Given the description of an element on the screen output the (x, y) to click on. 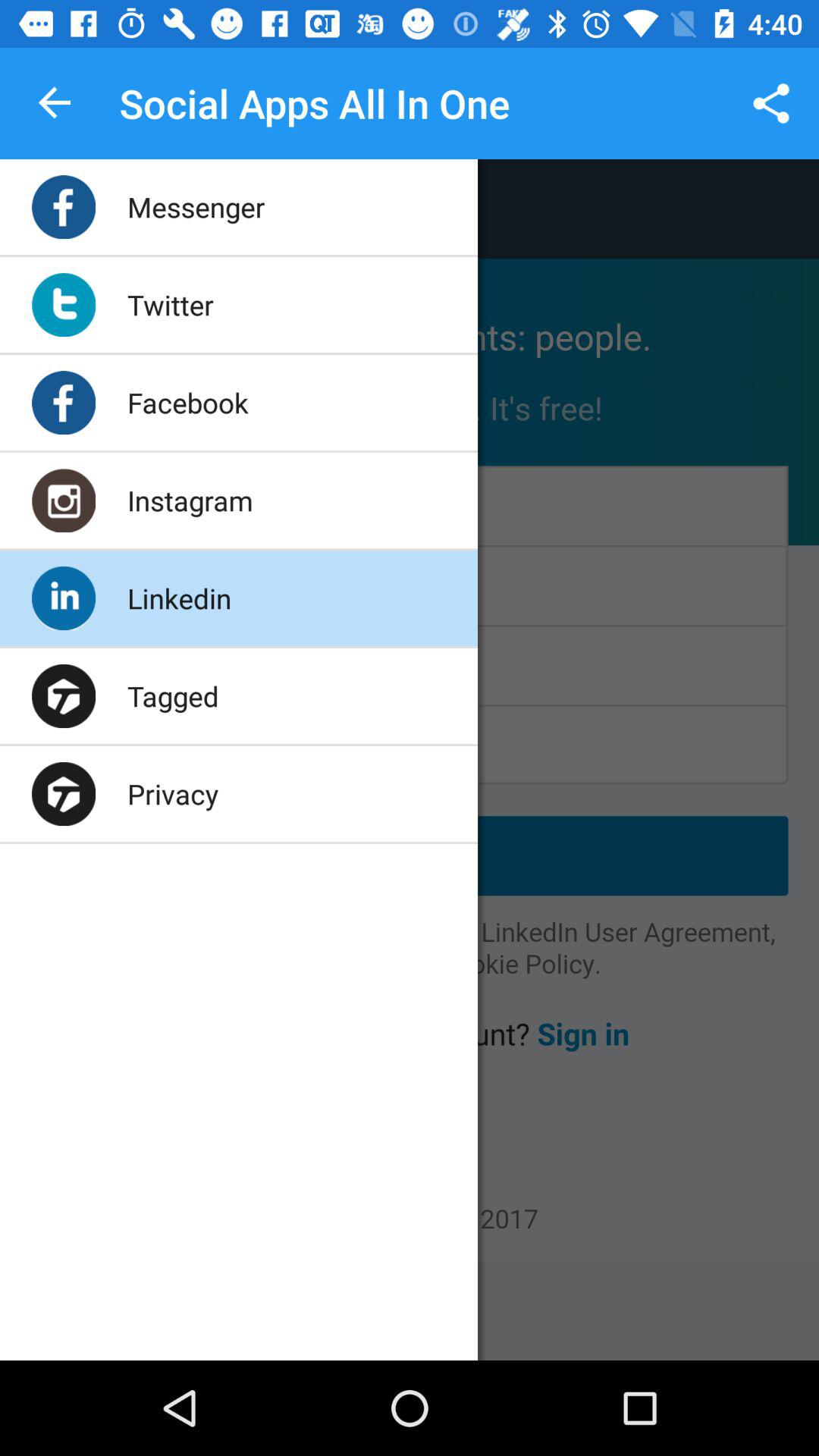
click the app below the facebook app (190, 500)
